Given the description of an element on the screen output the (x, y) to click on. 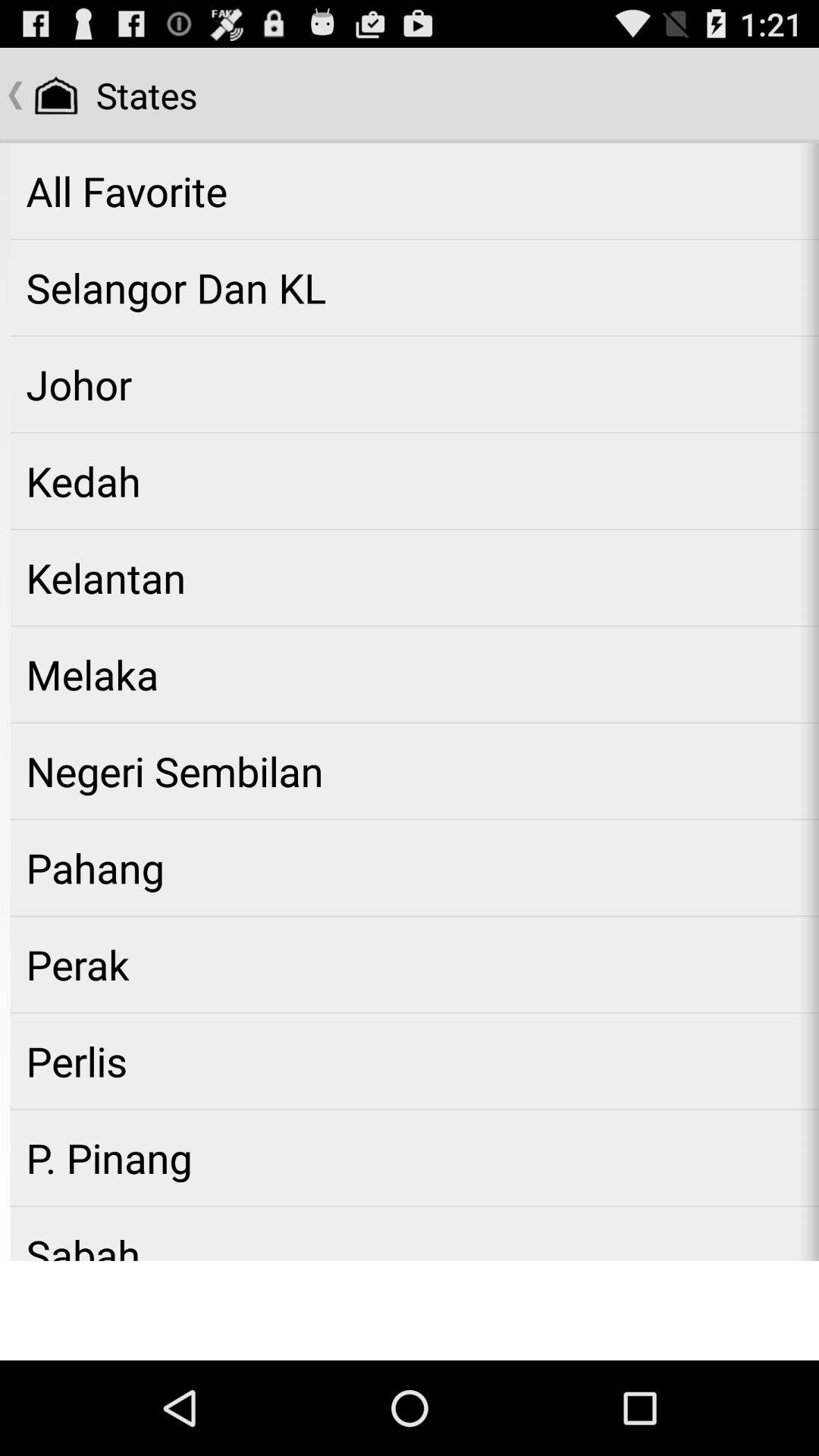
click the item below the pahang icon (414, 964)
